Given the description of an element on the screen output the (x, y) to click on. 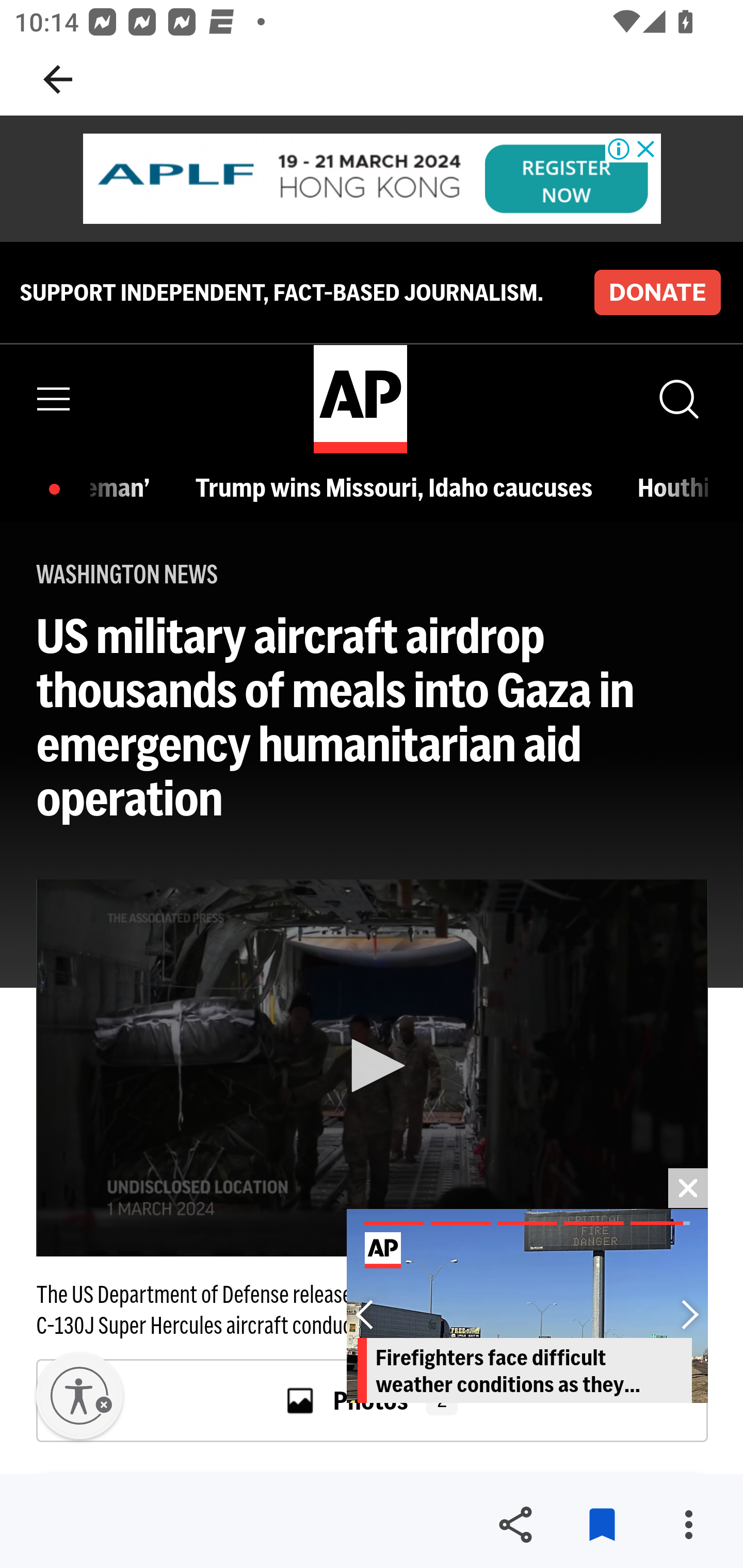
Navigate up (57, 79)
DONATE (657, 291)
home page AP Logo (359, 398)
Menu (54, 398)
Show Search (677, 398)
Adam Sandler in ‘Spaceman’ (125, 487)
Trump wins Missouri, Idaho caucuses (398, 487)
Houthi-hit ship sinks in Red Sea (672, 487)
Unable to play media. (372, 1067)
Play (372, 1066)
Enable accessibility (79, 1395)
Share (514, 1524)
Remove from saved stories (601, 1524)
More options (688, 1524)
